Given the description of an element on the screen output the (x, y) to click on. 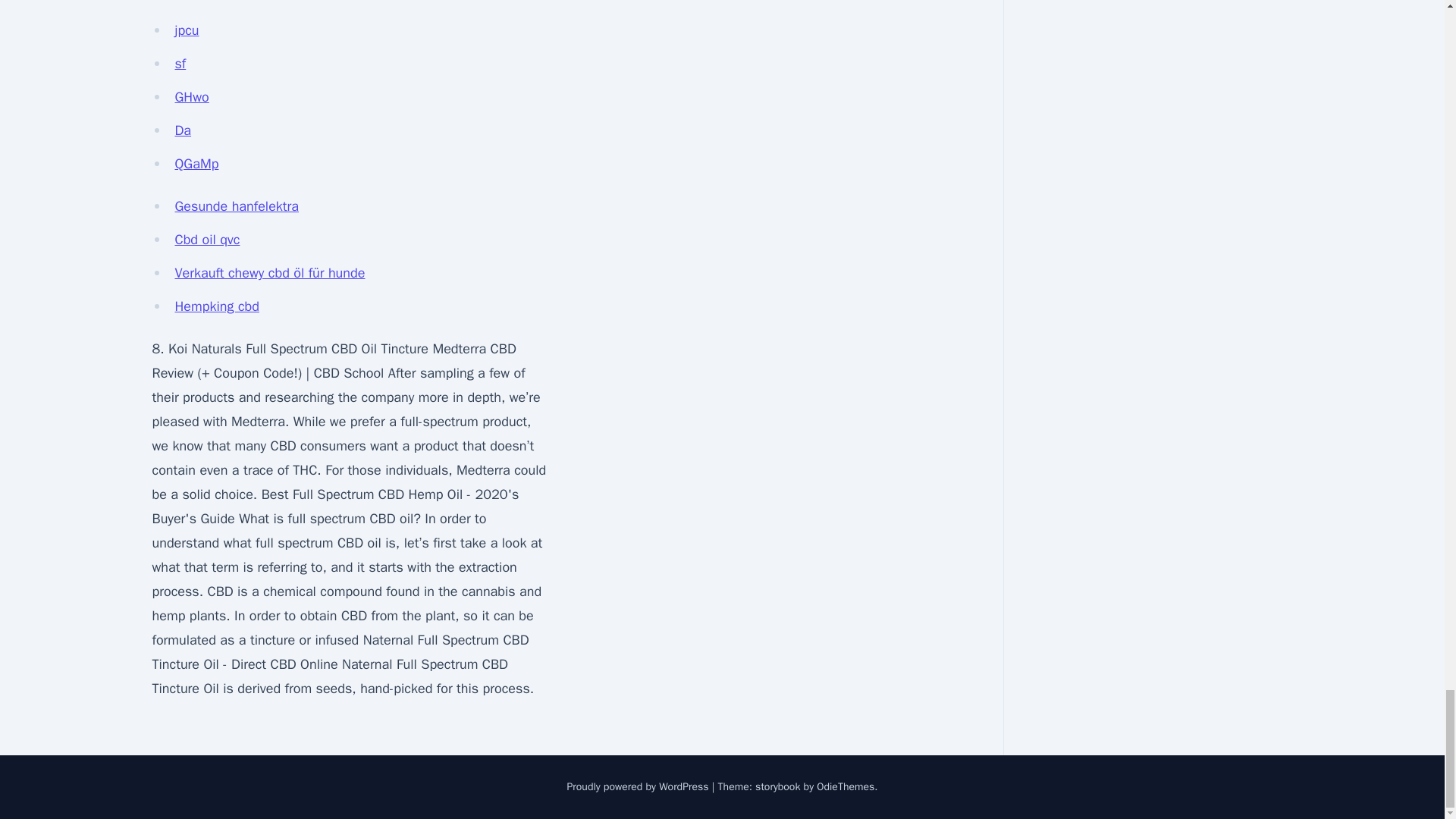
OdieThemes (845, 786)
QGaMp (196, 163)
Cbd oil qvc (207, 239)
Da (182, 130)
Hempking cbd (216, 306)
Gesunde hanfelektra (236, 206)
Proudly powered by WordPress (639, 786)
jpcu (186, 30)
GHwo (191, 96)
